Given the description of an element on the screen output the (x, y) to click on. 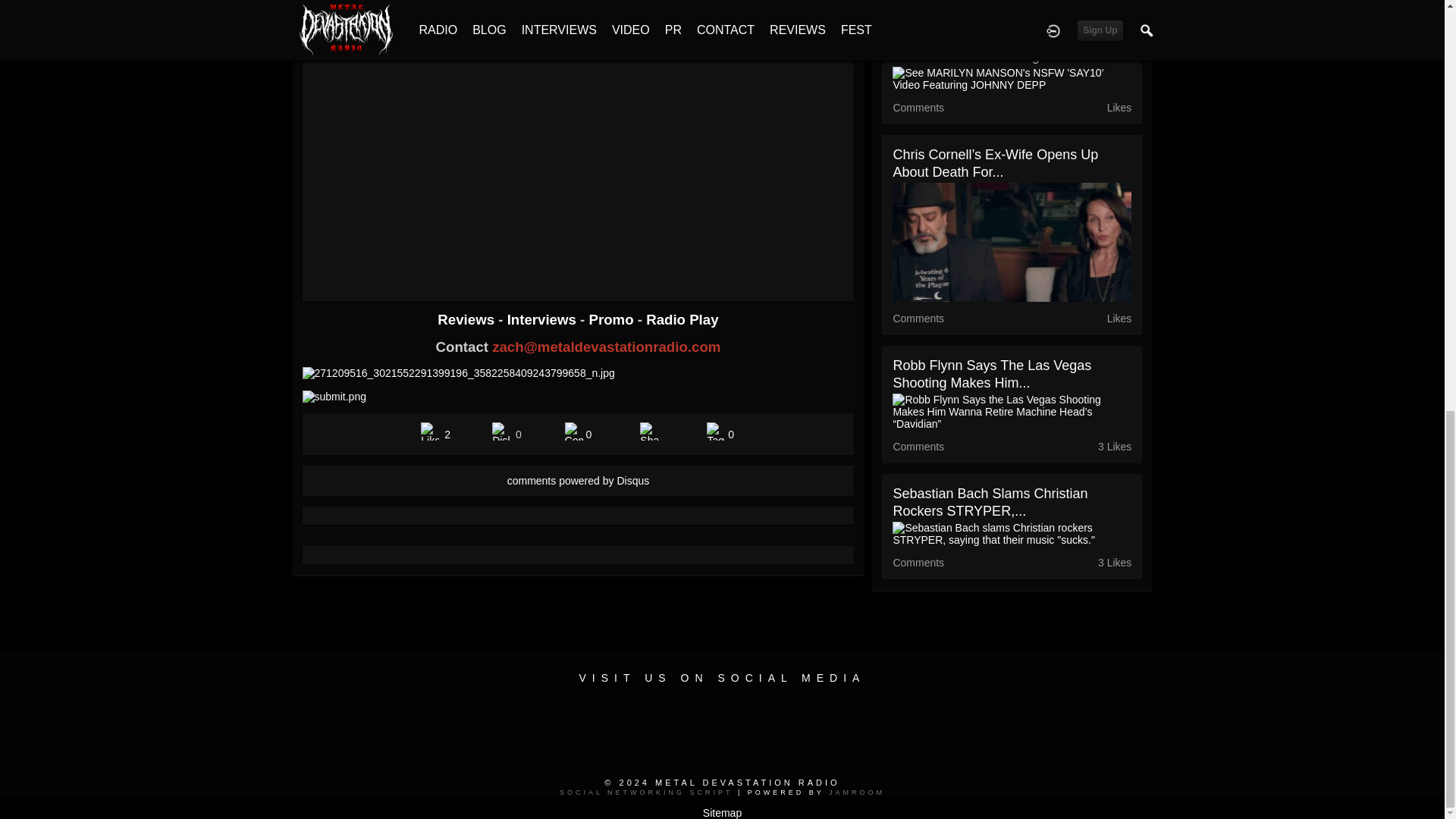
Promo (612, 319)
Share This with your Followers (649, 431)
Dislike (501, 431)
Interviews (542, 319)
Like (429, 431)
Radio Play (681, 319)
Tag (715, 431)
Post Your Comment (573, 431)
Reviews (467, 319)
